Given the description of an element on the screen output the (x, y) to click on. 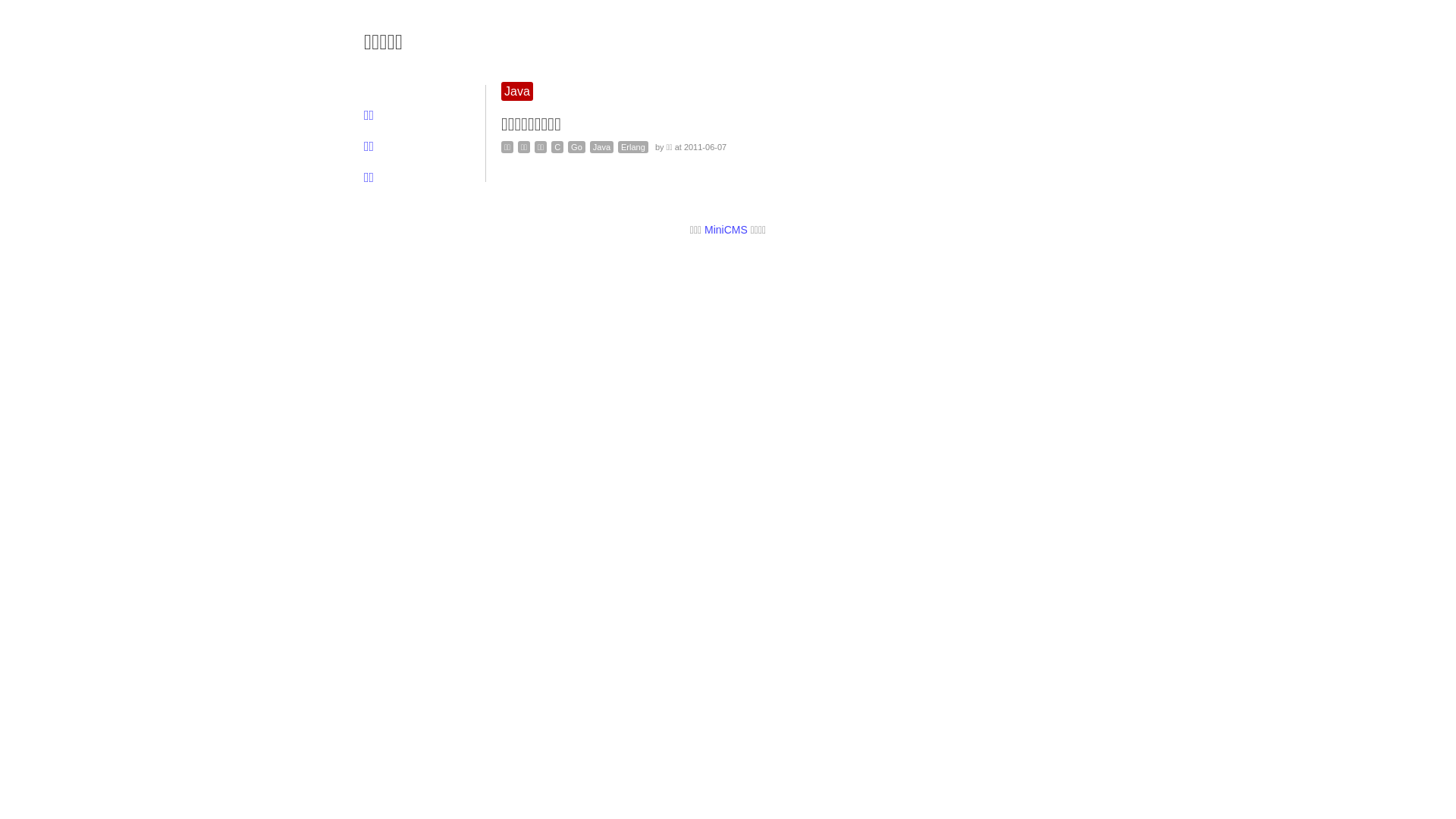
Erlang Element type: text (633, 147)
MiniCMS Element type: text (725, 229)
Java Element type: text (601, 147)
C Element type: text (557, 147)
Go Element type: text (576, 147)
